Given the description of an element on the screen output the (x, y) to click on. 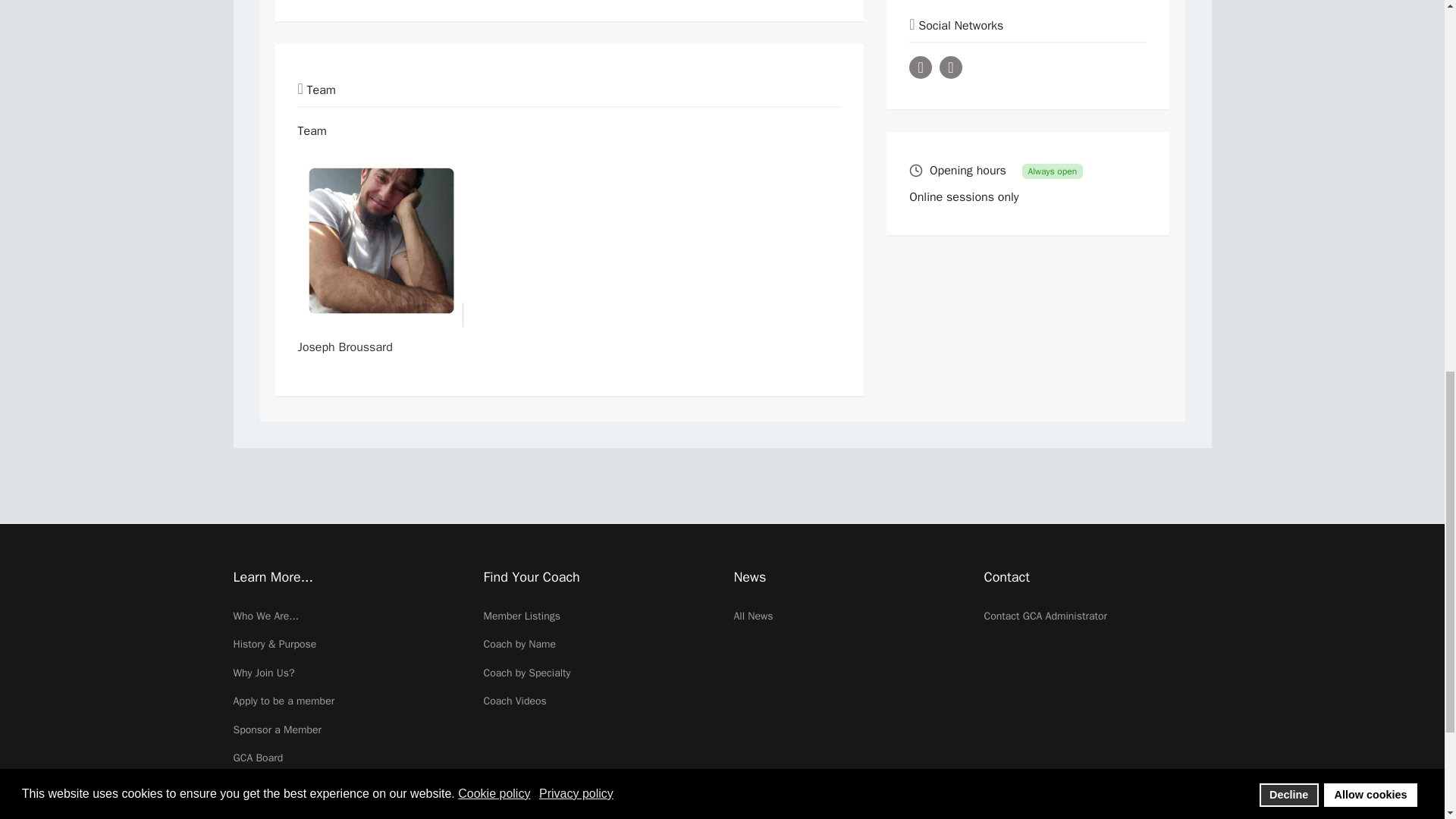
Follow us on LinkedIn (919, 67)
Follow us on Instagram (950, 67)
